Given the description of an element on the screen output the (x, y) to click on. 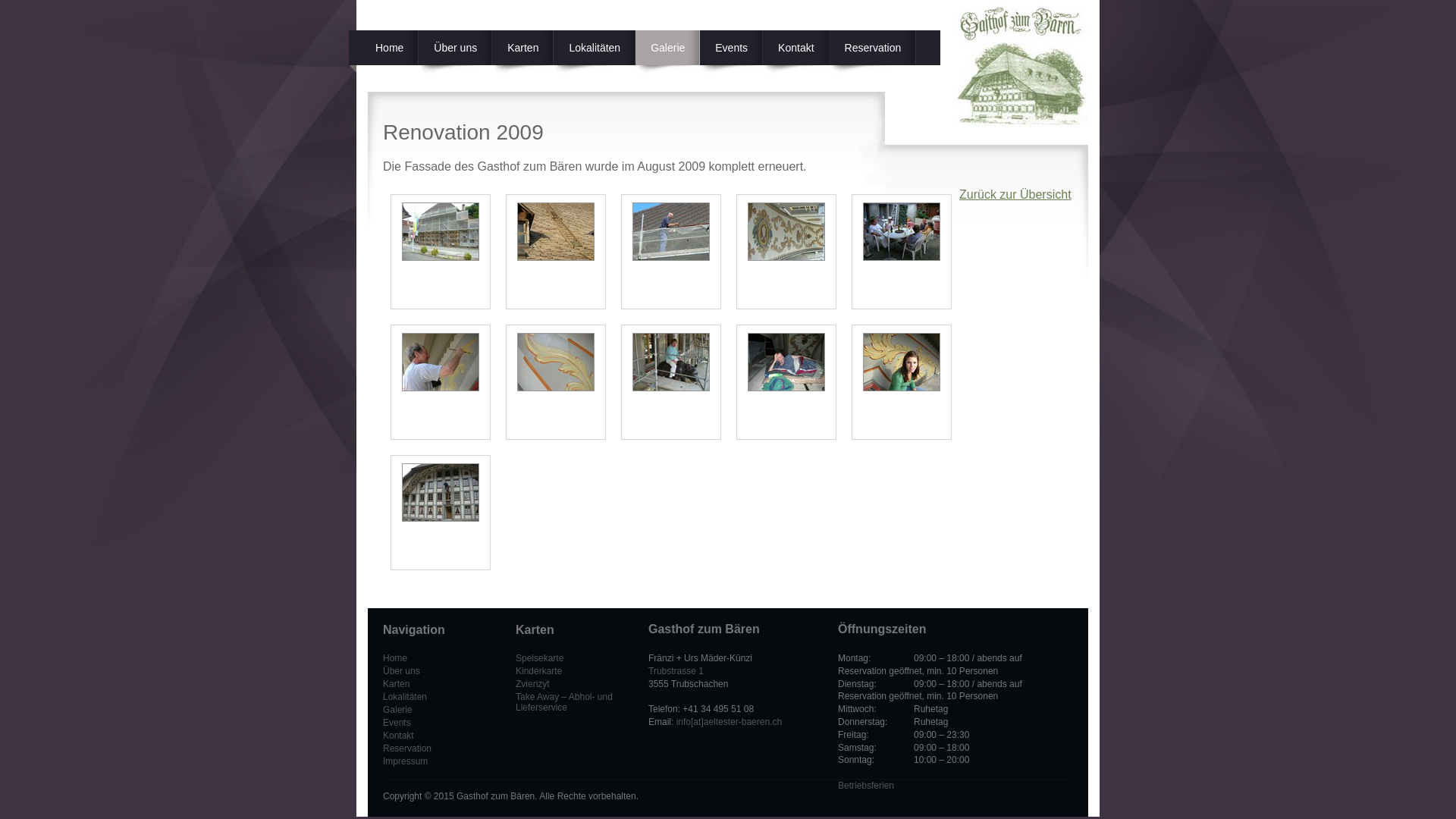
Kontakt Element type: text (795, 52)
Home Element type: text (394, 657)
Events Element type: text (396, 722)
Kinderkarte Element type: text (538, 670)
Trubstrasse 1 Element type: text (675, 670)
Zvierizyt Element type: text (532, 683)
Kontakt Element type: text (398, 735)
Betriebsferien Element type: text (865, 785)
Karten Element type: text (522, 52)
Impressum Element type: text (404, 761)
Home Element type: text (383, 52)
Galerie Element type: text (667, 52)
Reservation Element type: text (406, 748)
Speisekarte Element type: text (539, 657)
Karten Element type: text (395, 683)
info[at]aeltester-baeren.ch Element type: text (728, 721)
Events Element type: text (730, 52)
Reservation Element type: text (872, 52)
Galerie Element type: text (397, 709)
